Given the description of an element on the screen output the (x, y) to click on. 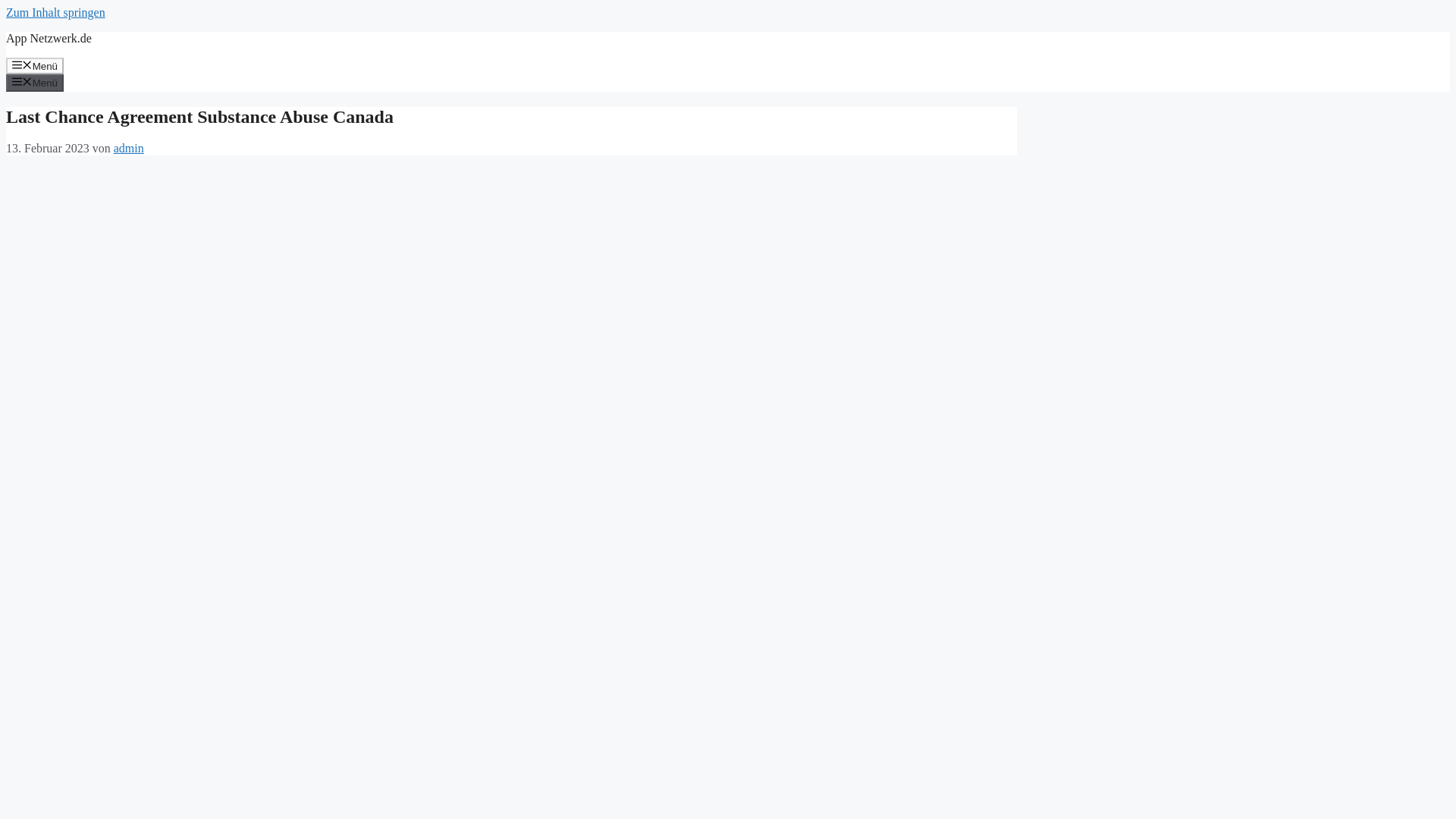
Zum Inhalt springen (54, 11)
App Netzwerk.de (48, 38)
Zum Inhalt springen (54, 11)
